Given the description of an element on the screen output the (x, y) to click on. 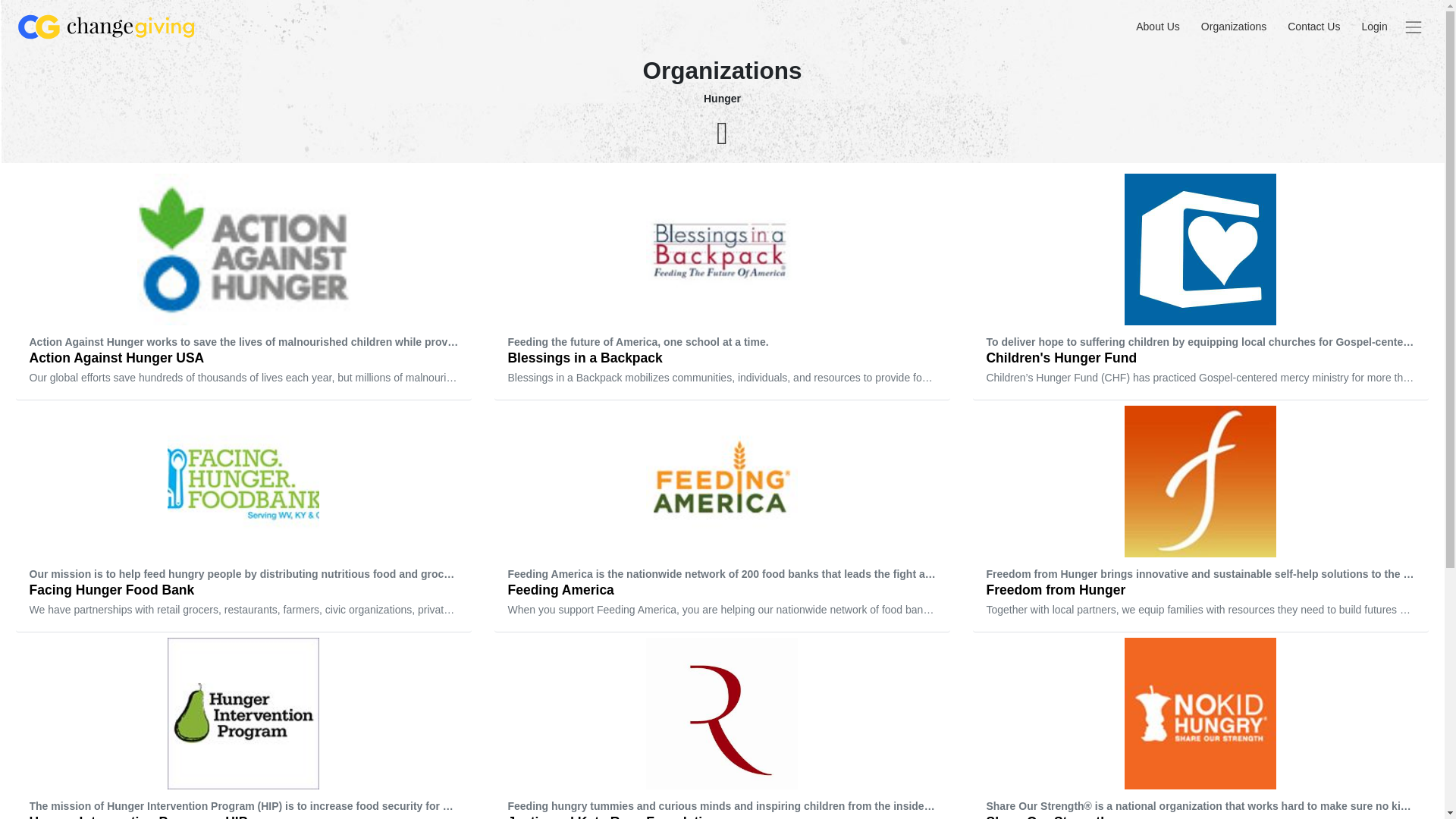
Justin and Kate Rose Foundations (721, 728)
Action Against Hunger USA (243, 289)
Feeding America (721, 521)
Organizations (1233, 26)
Freedom from Hunger (1199, 521)
Contact Us (1313, 26)
Hunger Intervention Program - HIP (243, 728)
Share Our Strength (1199, 728)
Blessings in a Backpack (721, 289)
Login (1373, 26)
Children's Hunger Fund (1199, 289)
About Us (1158, 26)
